Given the description of an element on the screen output the (x, y) to click on. 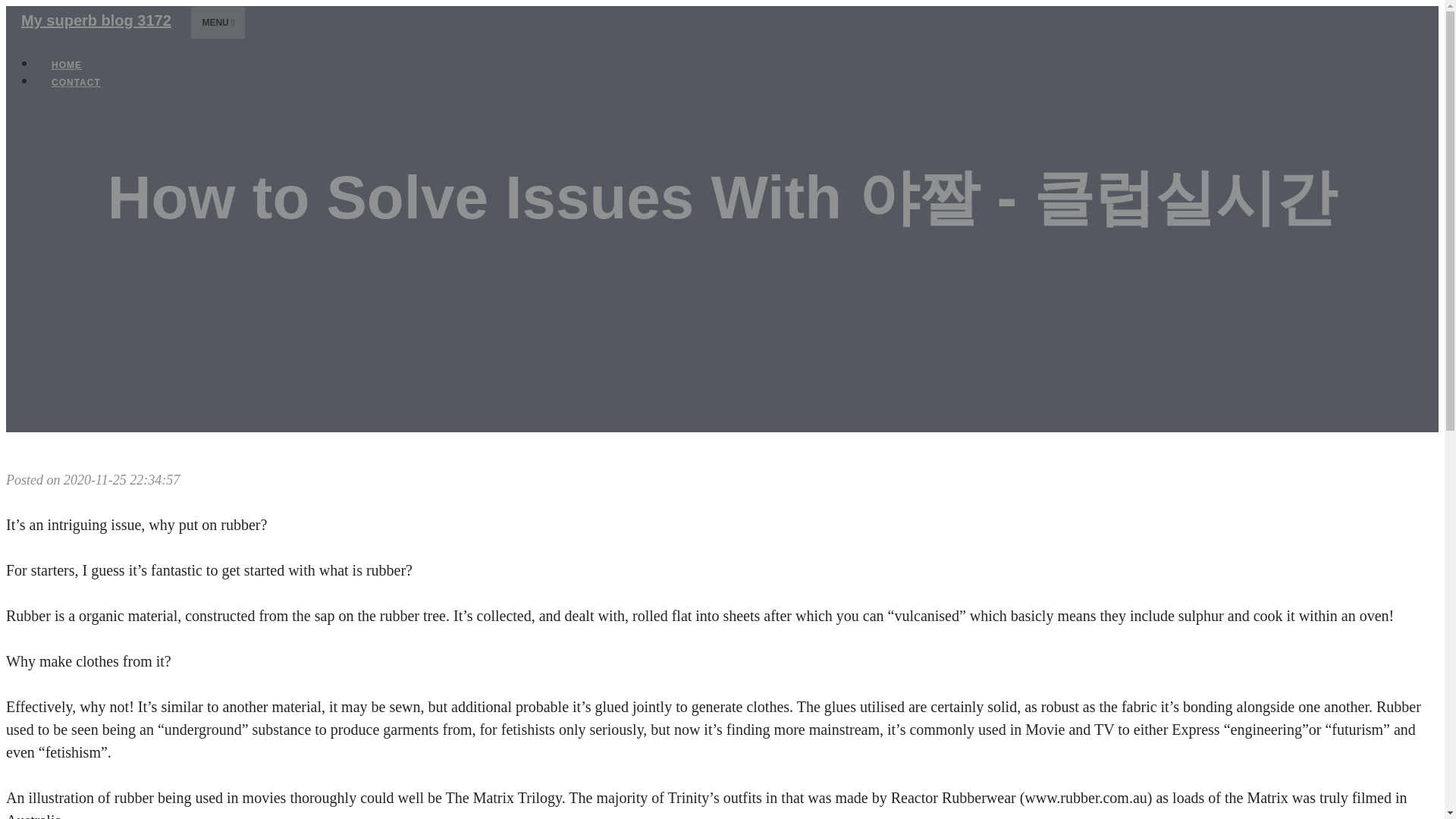
HOME (66, 64)
CONTACT (76, 82)
My superb blog 3172 (95, 20)
MENU (218, 22)
